Given the description of an element on the screen output the (x, y) to click on. 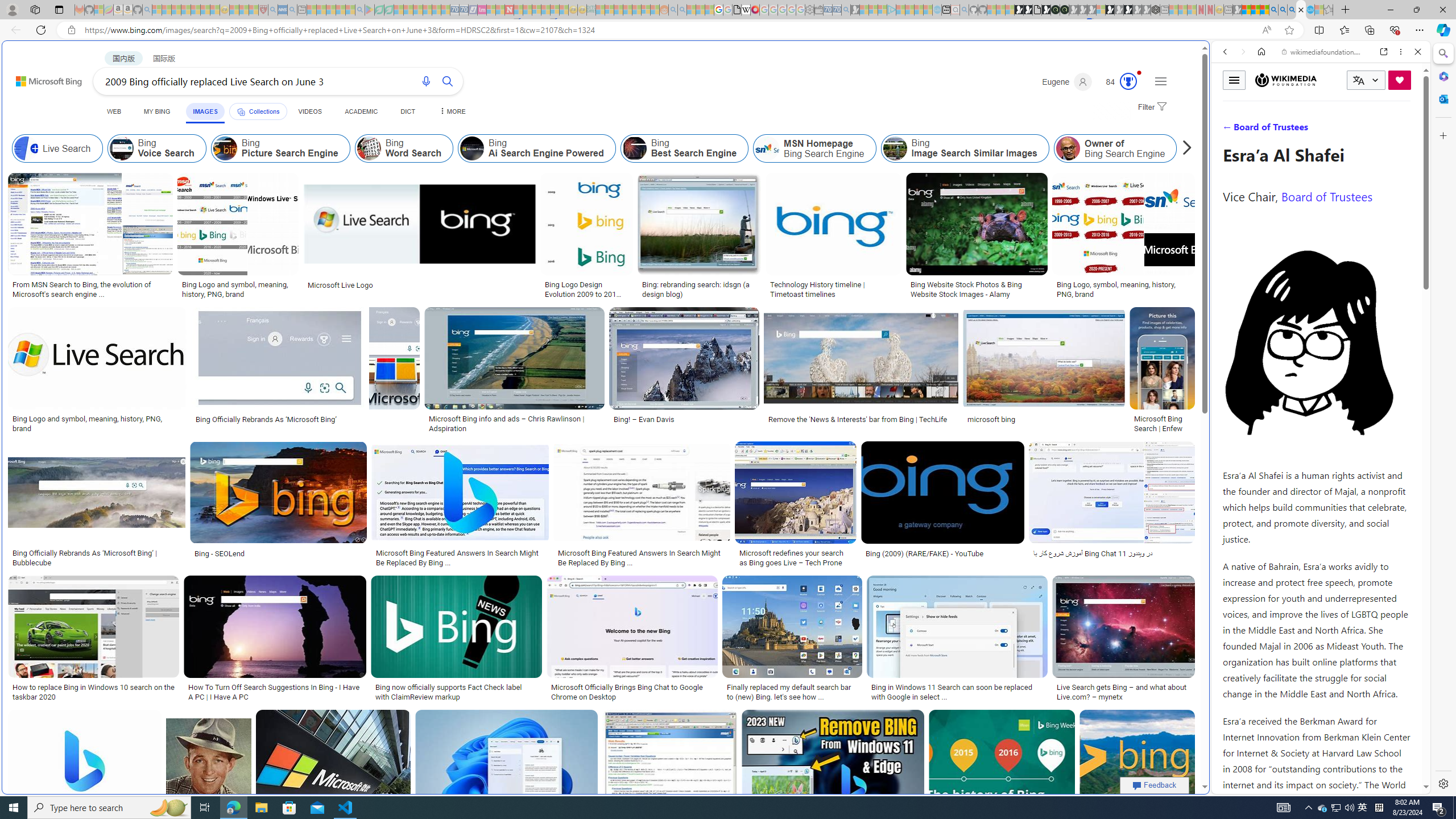
AutomationID: serp_medal_svg (1128, 81)
utah sues federal government - Search (922, 389)
Search Filter, Search Tools (1350, 129)
SEARCH TOOLS (1350, 130)
